Given the description of an element on the screen output the (x, y) to click on. 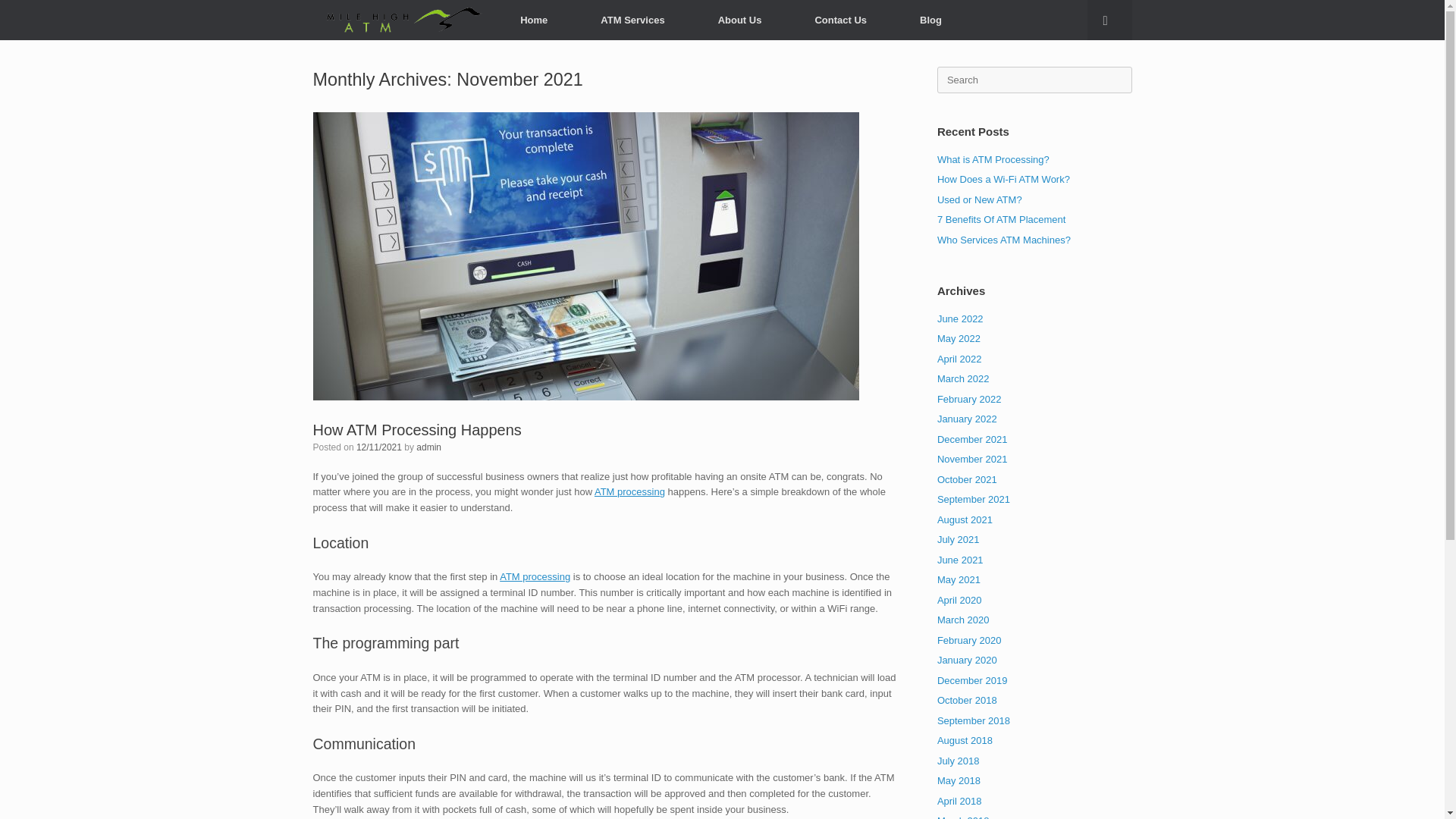
May 2021 (958, 579)
Permalink to How ATM Processing Happens (417, 429)
How Does a Wi-Fi ATM Work? (1003, 179)
About Us (740, 20)
May 2022 (958, 337)
admin (428, 447)
Used or New ATM? (979, 199)
June 2021 (960, 559)
October 2021 (967, 478)
July 2021 (958, 539)
